Given the description of an element on the screen output the (x, y) to click on. 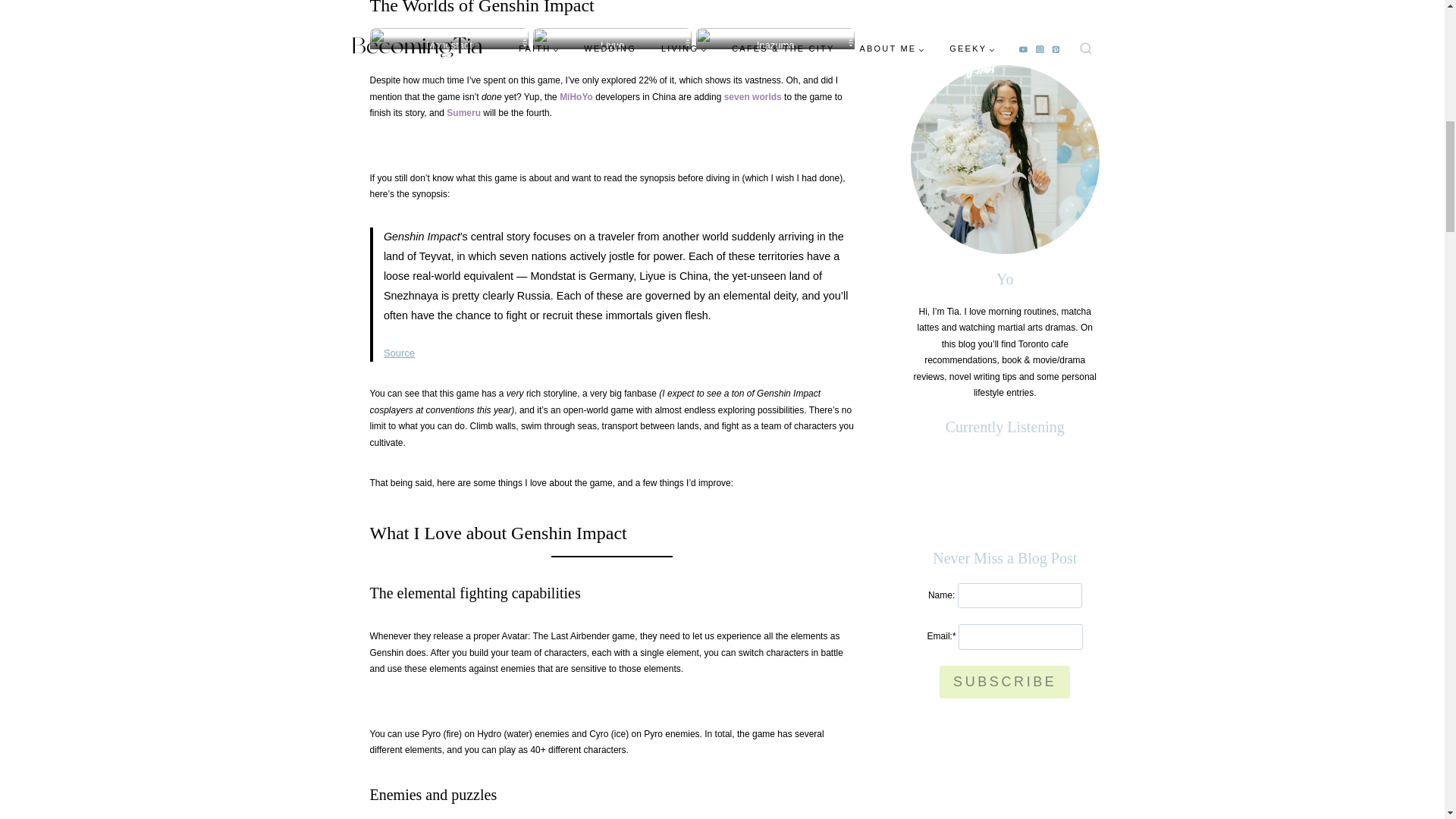
Subscribe (1004, 113)
Source (399, 352)
